Given the description of an element on the screen output the (x, y) to click on. 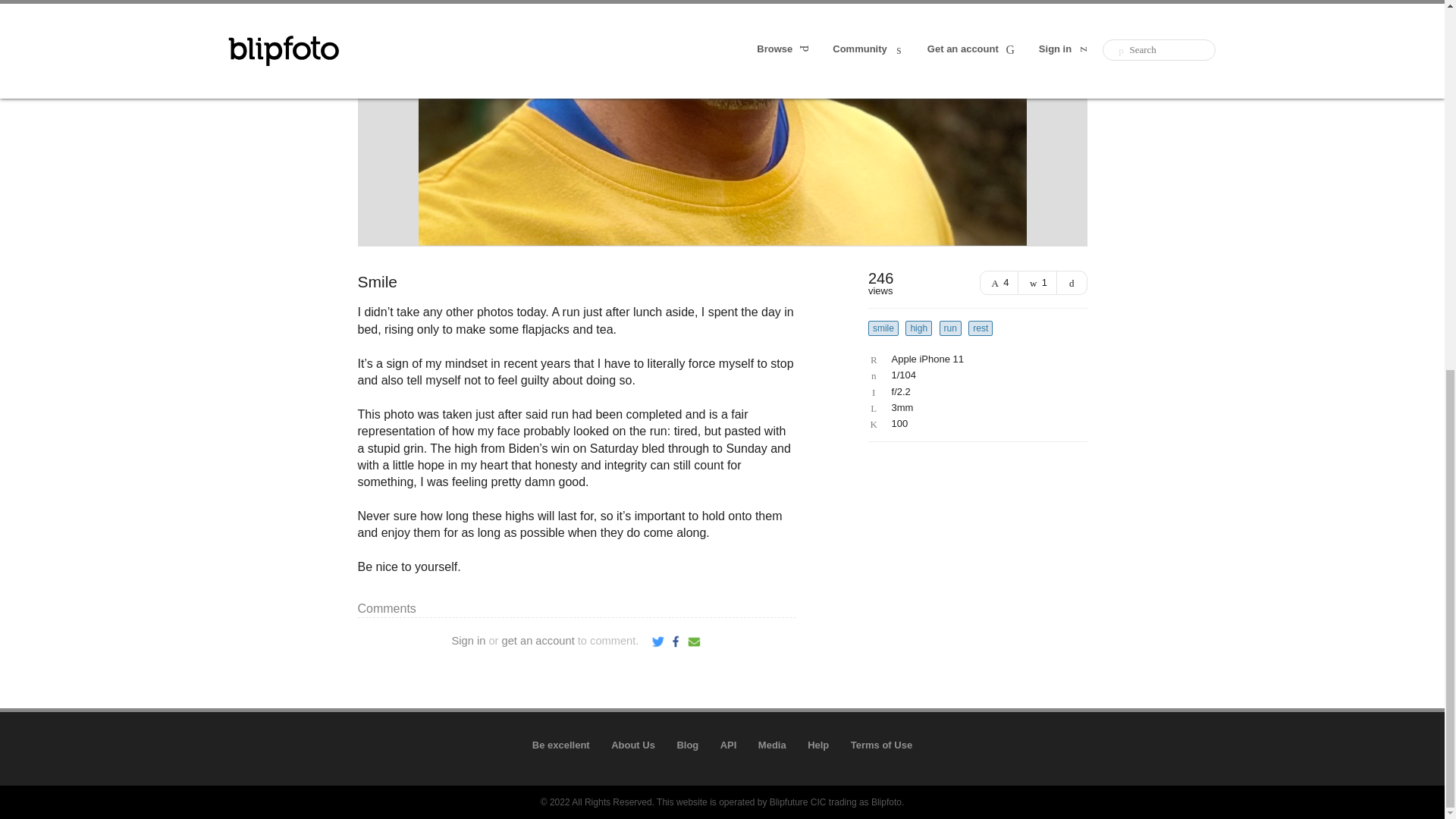
get an account (538, 640)
About Us (633, 745)
Media (772, 745)
Help (818, 745)
Exposure time (973, 375)
F-Stop (973, 391)
run (949, 328)
rest (980, 328)
high (918, 328)
Sign in (468, 640)
